Given the description of an element on the screen output the (x, y) to click on. 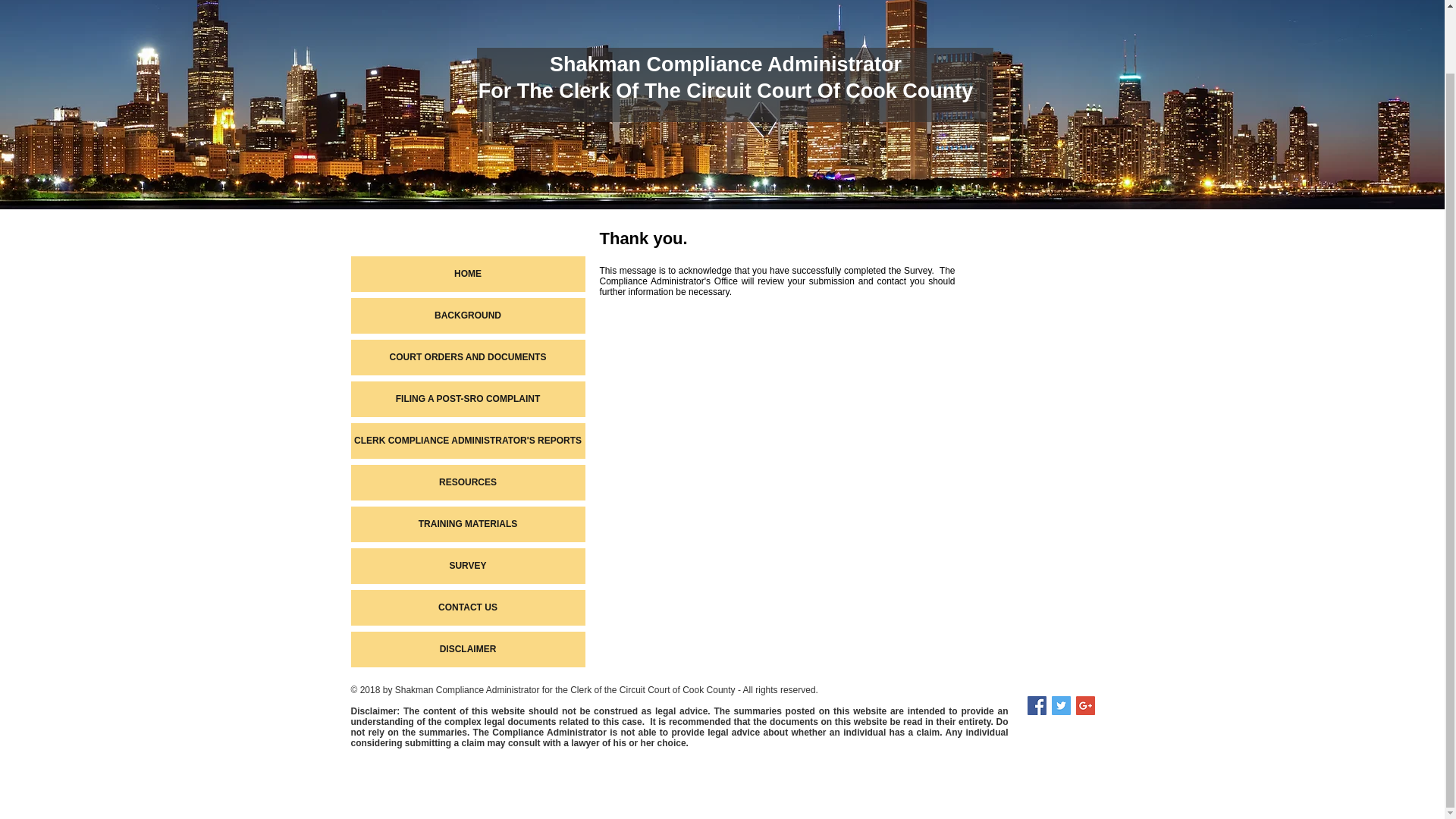
HOME (467, 273)
SURVEY (467, 565)
BACKGROUND (467, 315)
Shakman Compliance Administrator (725, 64)
For The  (519, 90)
Clerk Of The Circuit Court Of Coo (722, 90)
TRAINING MATERIALS (467, 524)
RESOURCES (467, 482)
FILING A POST-SRO COMPLAINT (467, 398)
CLERK COMPLIANCE ADMINISTRATOR'S REPORTS (467, 440)
CONTACT US (467, 607)
DISCLAIMER (467, 649)
k County (929, 90)
COURT ORDERS AND DOCUMENTS (467, 357)
